Given the description of an element on the screen output the (x, y) to click on. 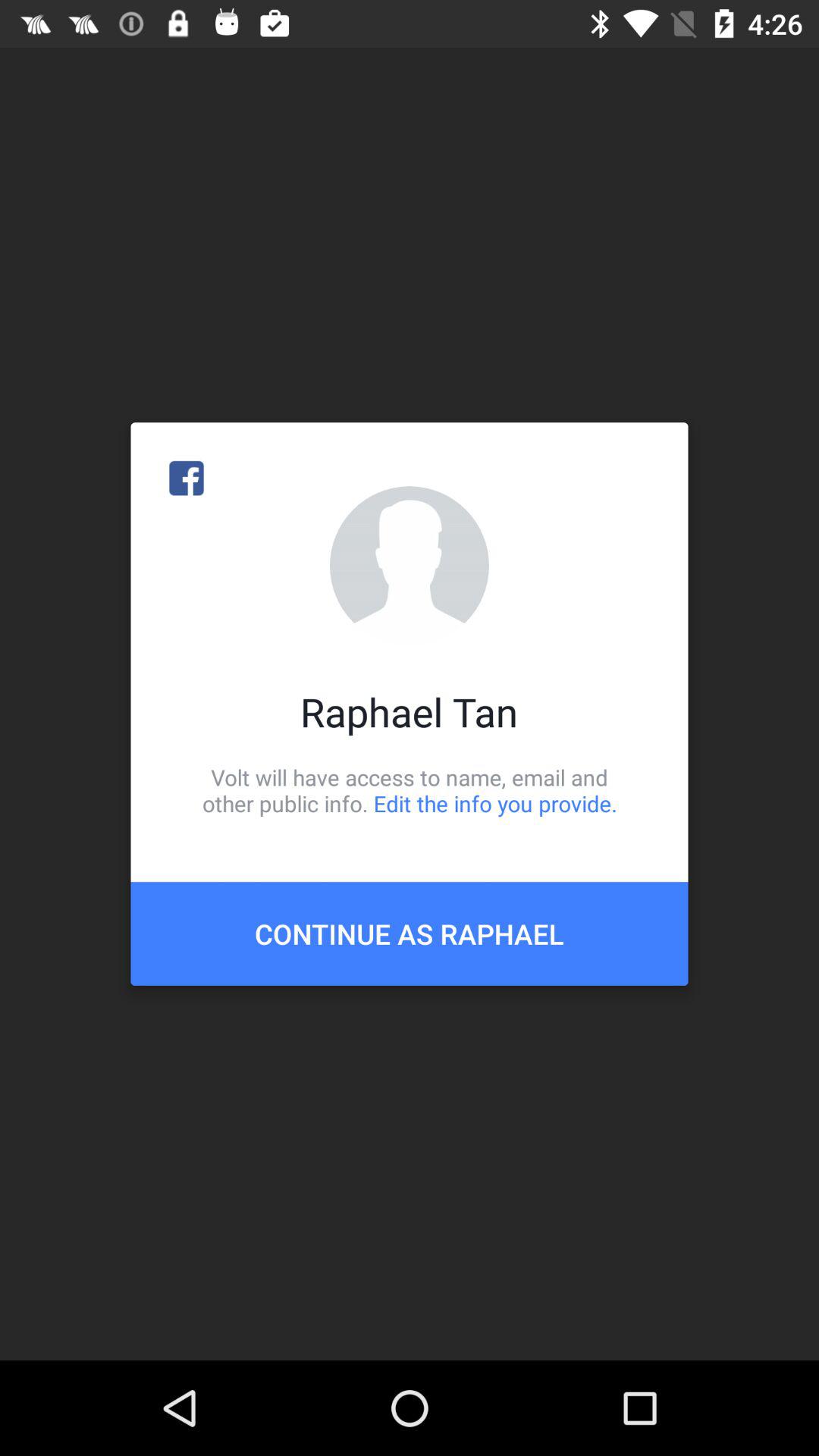
launch icon below volt will have (409, 933)
